Given the description of an element on the screen output the (x, y) to click on. 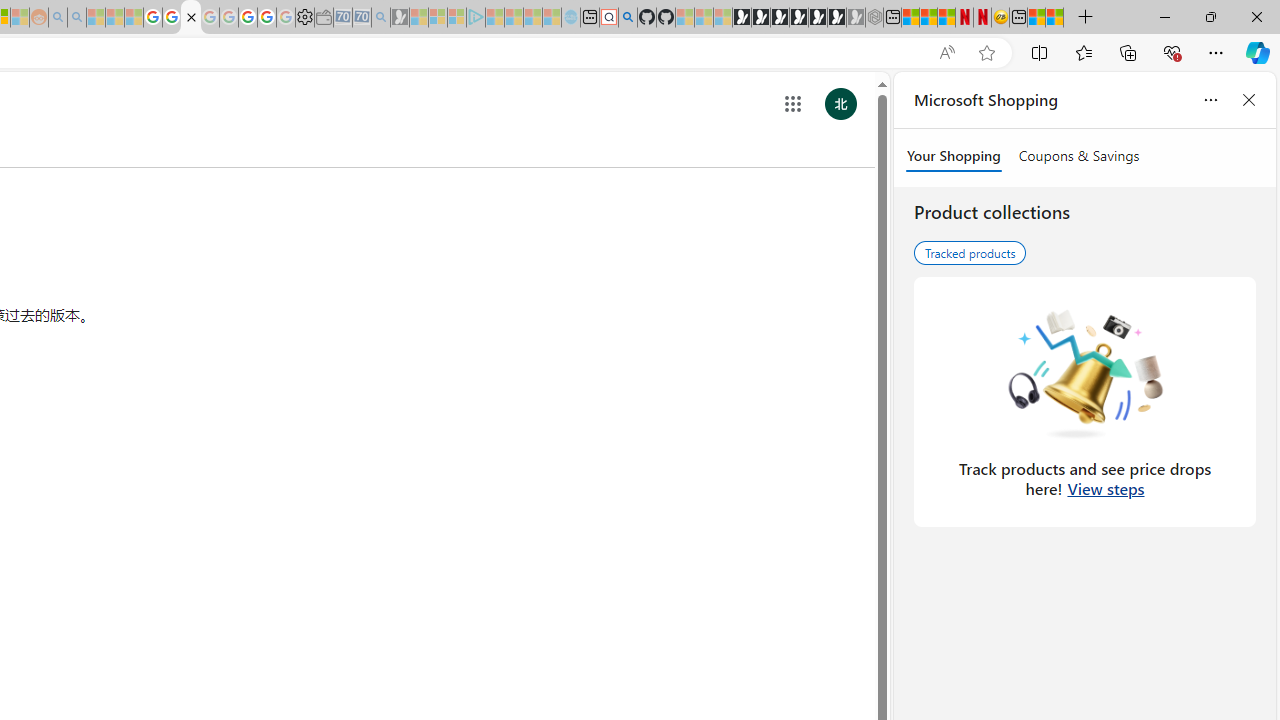
Wildlife - MSN (1035, 17)
